Given the description of an element on the screen output the (x, y) to click on. 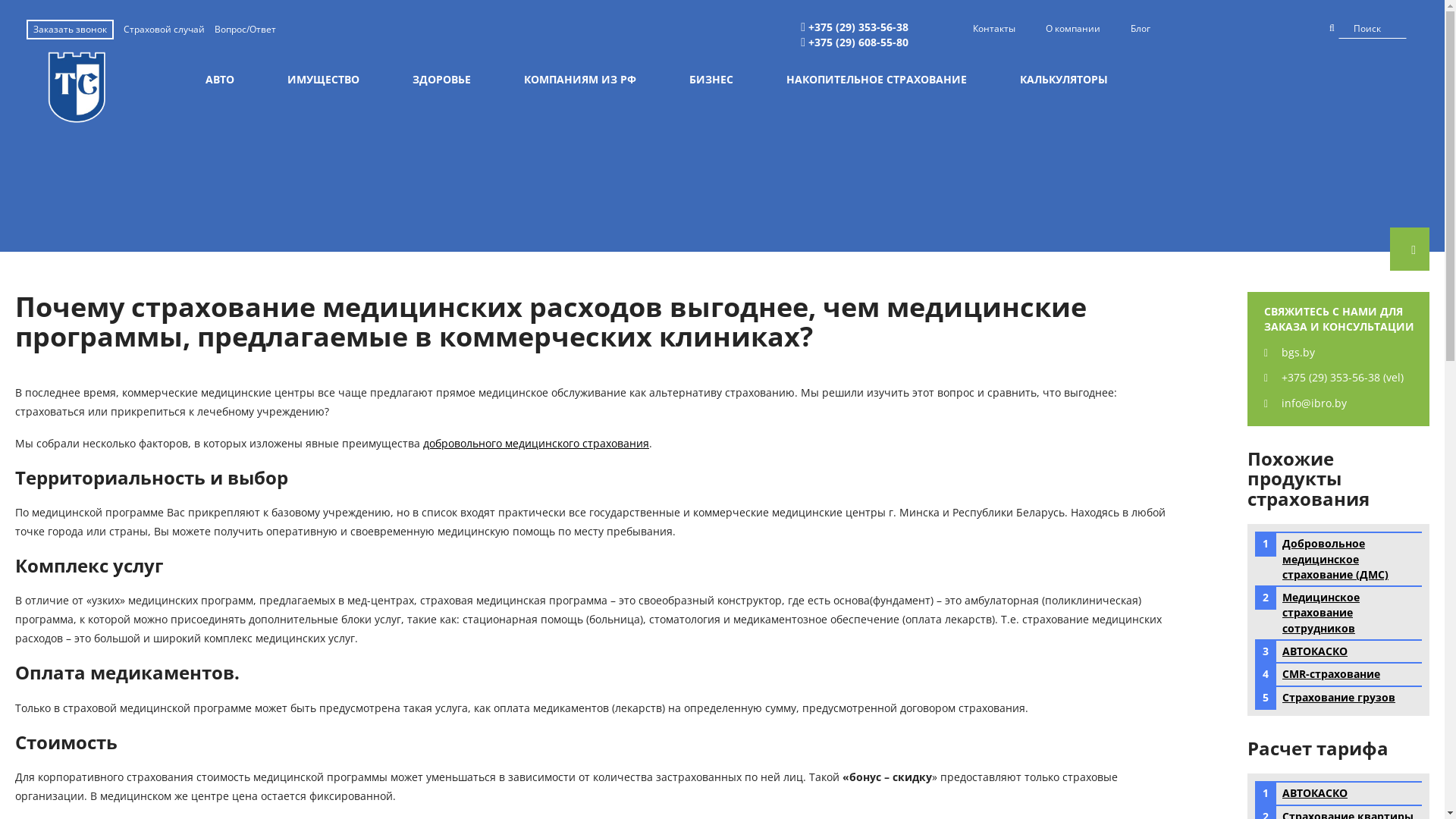
info@ibro.by Element type: text (1305, 402)
+375 (29) 353-56-38 (vel) Element type: text (1333, 377)
bgs.by Element type: text (1289, 352)
